Given the description of an element on the screen output the (x, y) to click on. 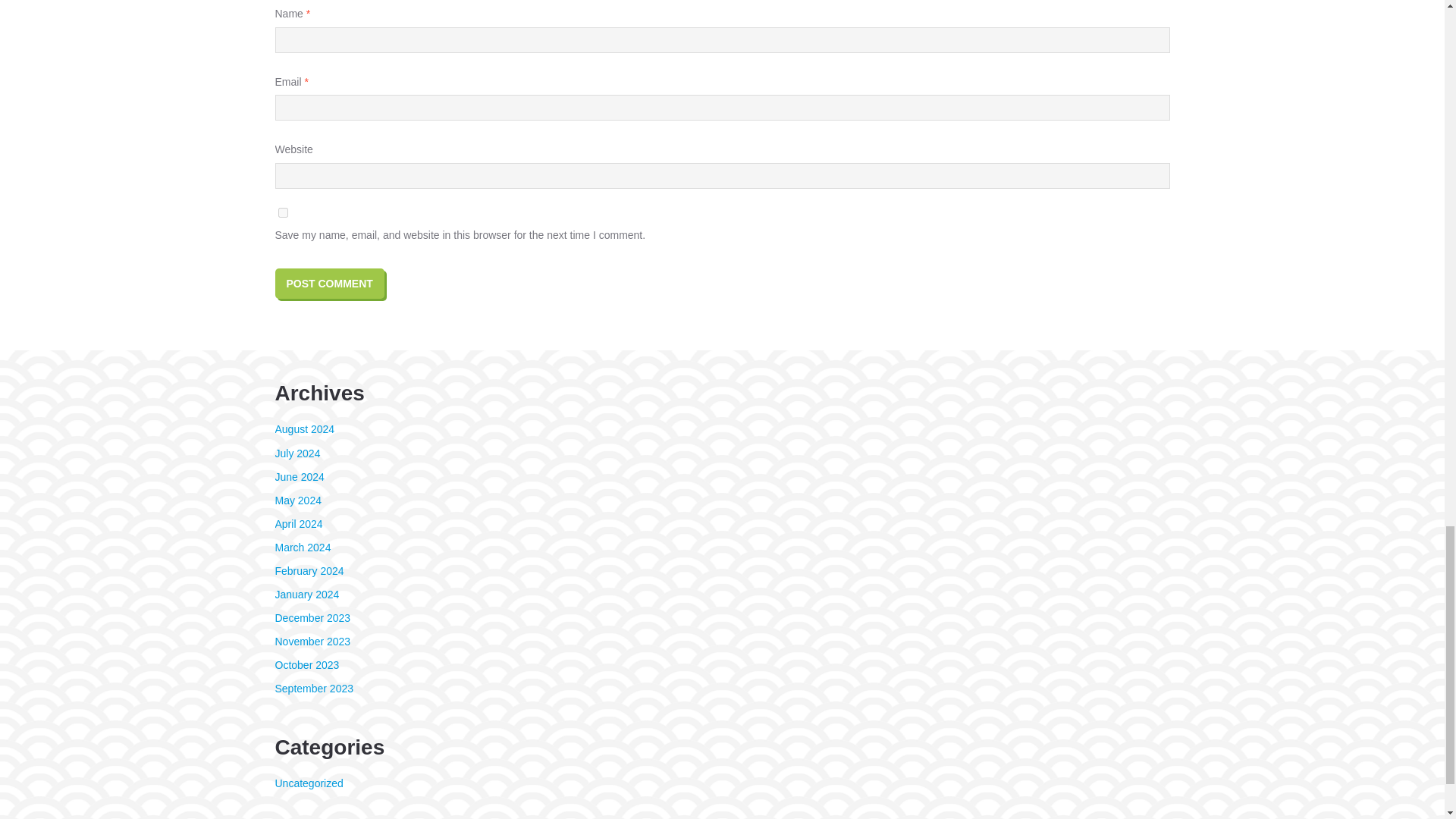
March 2024 (302, 547)
November 2023 (312, 641)
December 2023 (312, 617)
yes (282, 212)
Post Comment (329, 283)
August 2024 (304, 428)
June 2024 (299, 476)
July 2024 (297, 453)
Uncategorized (308, 783)
February 2024 (309, 571)
